Given the description of an element on the screen output the (x, y) to click on. 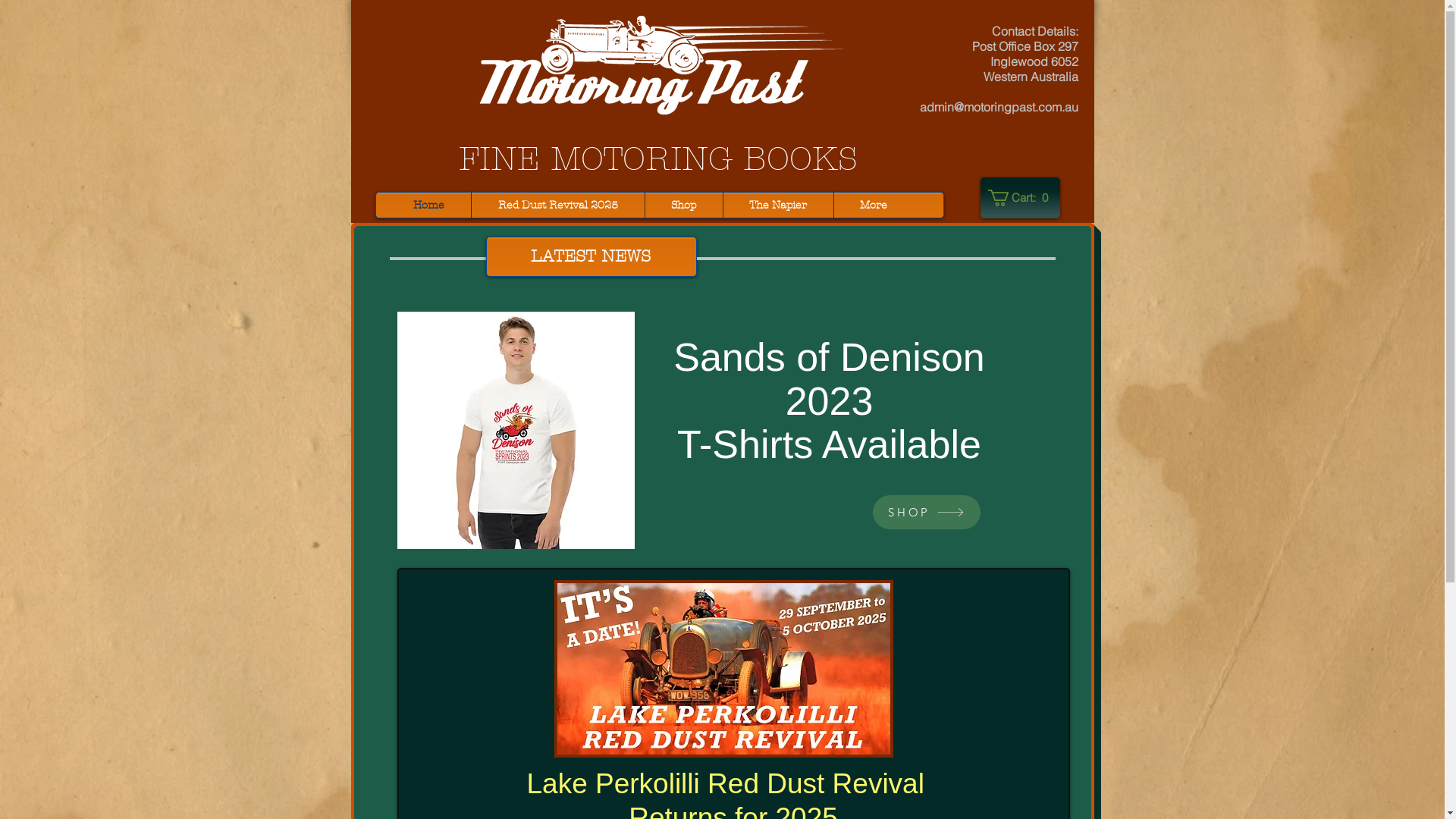
motoring_past_logo_white.png Element type: hover (658, 62)
admin@motoringpast.com.au Element type: text (998, 106)
RDR 2022 Car Badge.png Element type: hover (722, 668)
Home Element type: text (428, 204)
Shop Element type: text (682, 204)
mens-classic-tee-white-front-65056b212a5 Element type: hover (515, 430)
Cart:
0 Element type: text (1020, 197)
The Napier Element type: text (778, 204)
SHOP Element type: text (925, 512)
Red Dust Revival 2025 Element type: text (557, 204)
